Given the description of an element on the screen output the (x, y) to click on. 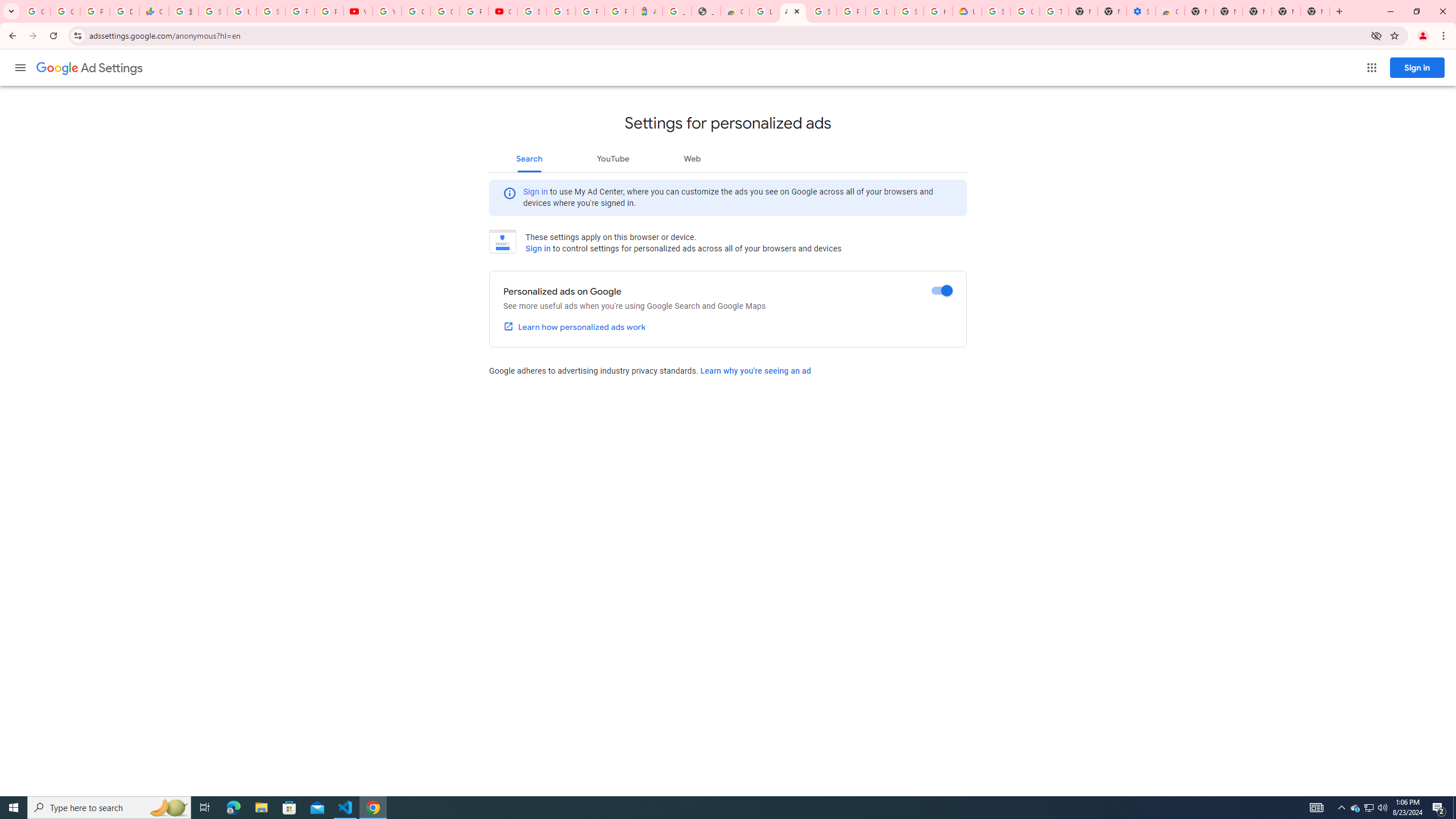
Privacy Checkup (327, 11)
Sign in - Google Accounts (821, 11)
Google Workspace Admin Community (35, 11)
Chrome Web Store - Household (734, 11)
